Given the description of an element on the screen output the (x, y) to click on. 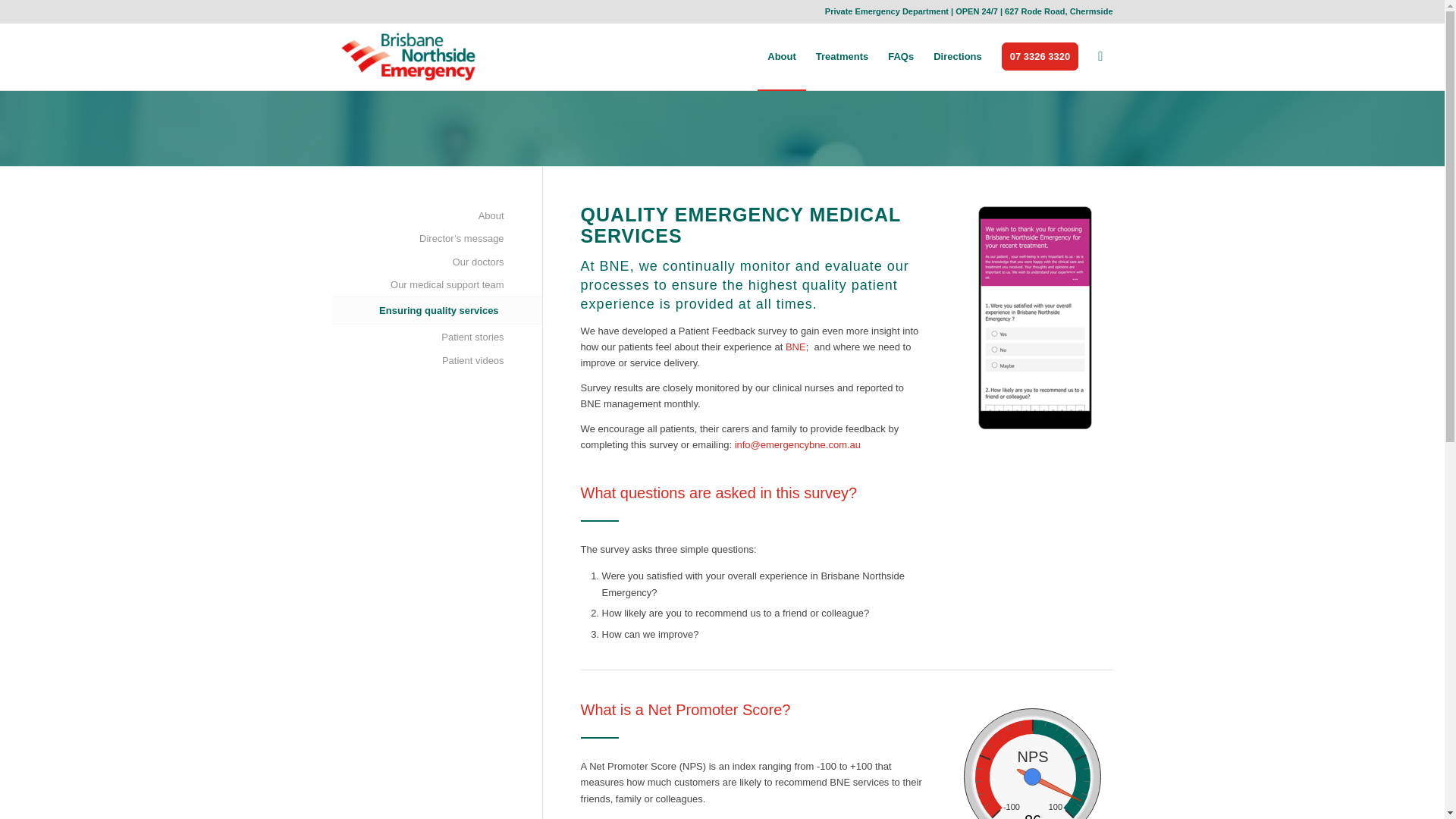
About (417, 215)
Patient stories (417, 336)
Patient videos (417, 360)
Ensuring quality services (417, 310)
07 3326 3320 (1040, 56)
BNE (796, 346)
Treatments (841, 56)
627 Rode Road, Chermside (1058, 10)
Our doctors (417, 261)
